Given the description of an element on the screen output the (x, y) to click on. 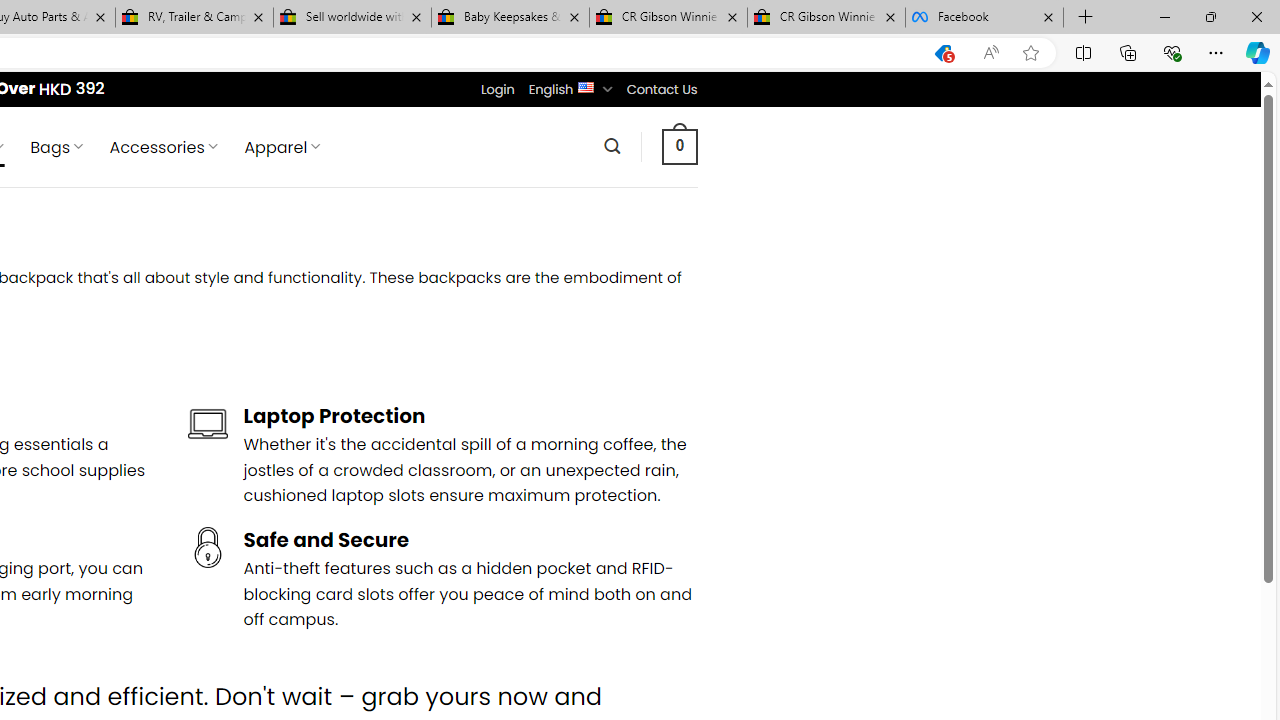
Sell worldwide with eBay (352, 17)
Login (497, 89)
This site has coupons! Shopping in Microsoft Edge, 5 (943, 53)
  0   (679, 146)
